Given the description of an element on the screen output the (x, y) to click on. 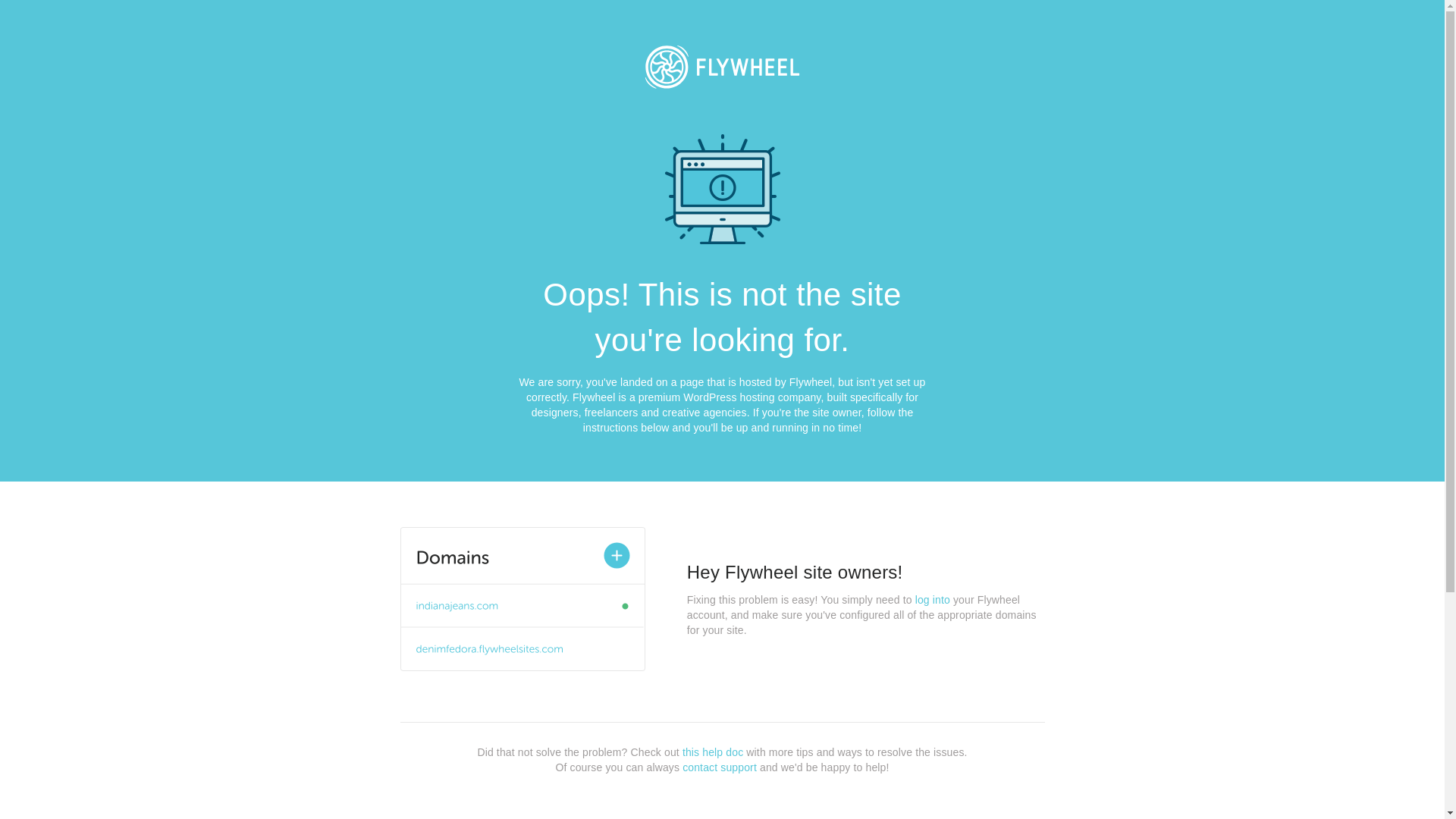
log into (932, 599)
this help doc (712, 752)
contact support (719, 767)
